Given the description of an element on the screen output the (x, y) to click on. 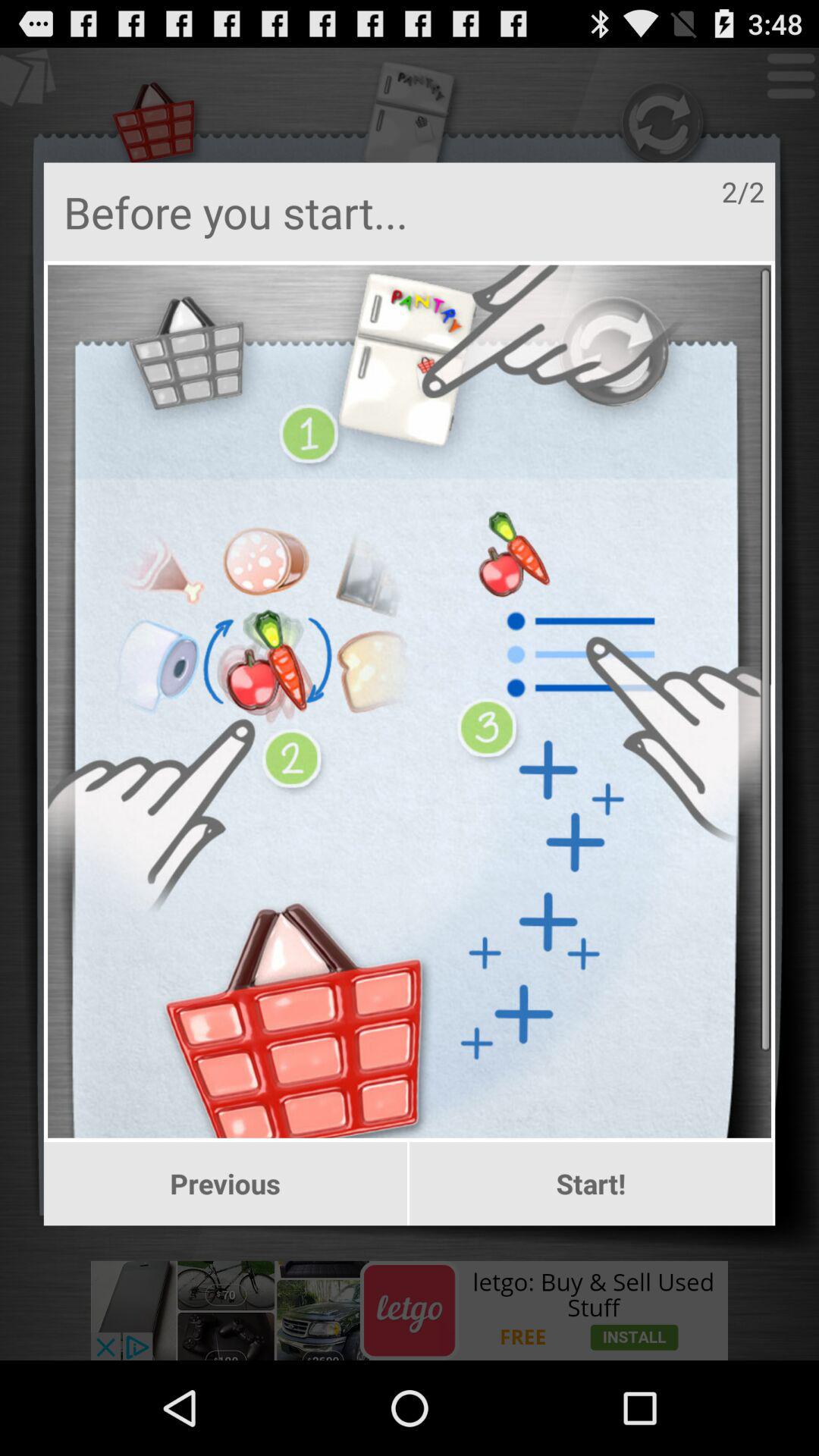
press icon at the bottom left corner (225, 1183)
